Given the description of an element on the screen output the (x, y) to click on. 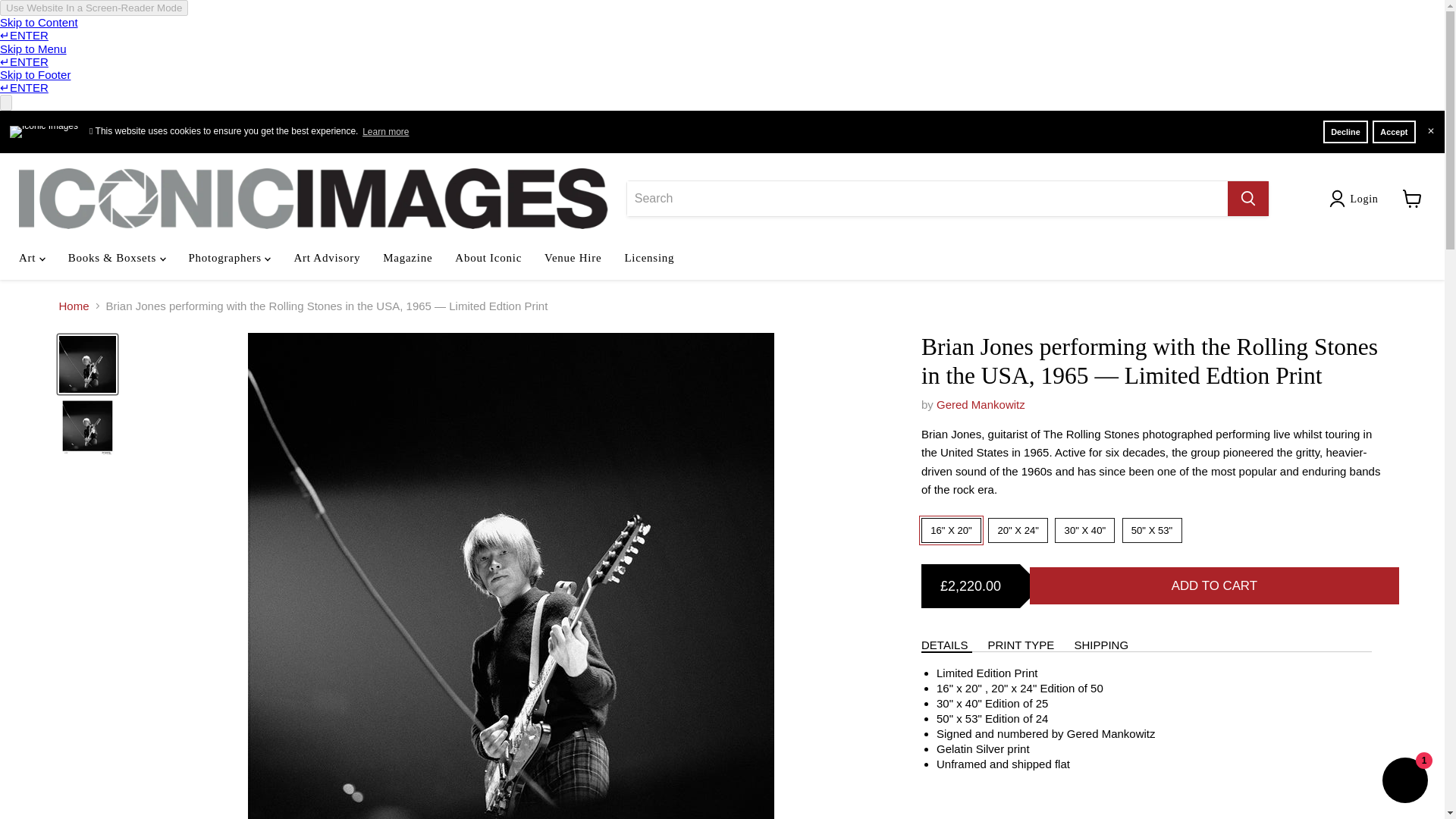
Login (1363, 198)
Accept (1394, 131)
View cart (1411, 198)
Learn more (385, 131)
Decline (1345, 131)
